Given the description of an element on the screen output the (x, y) to click on. 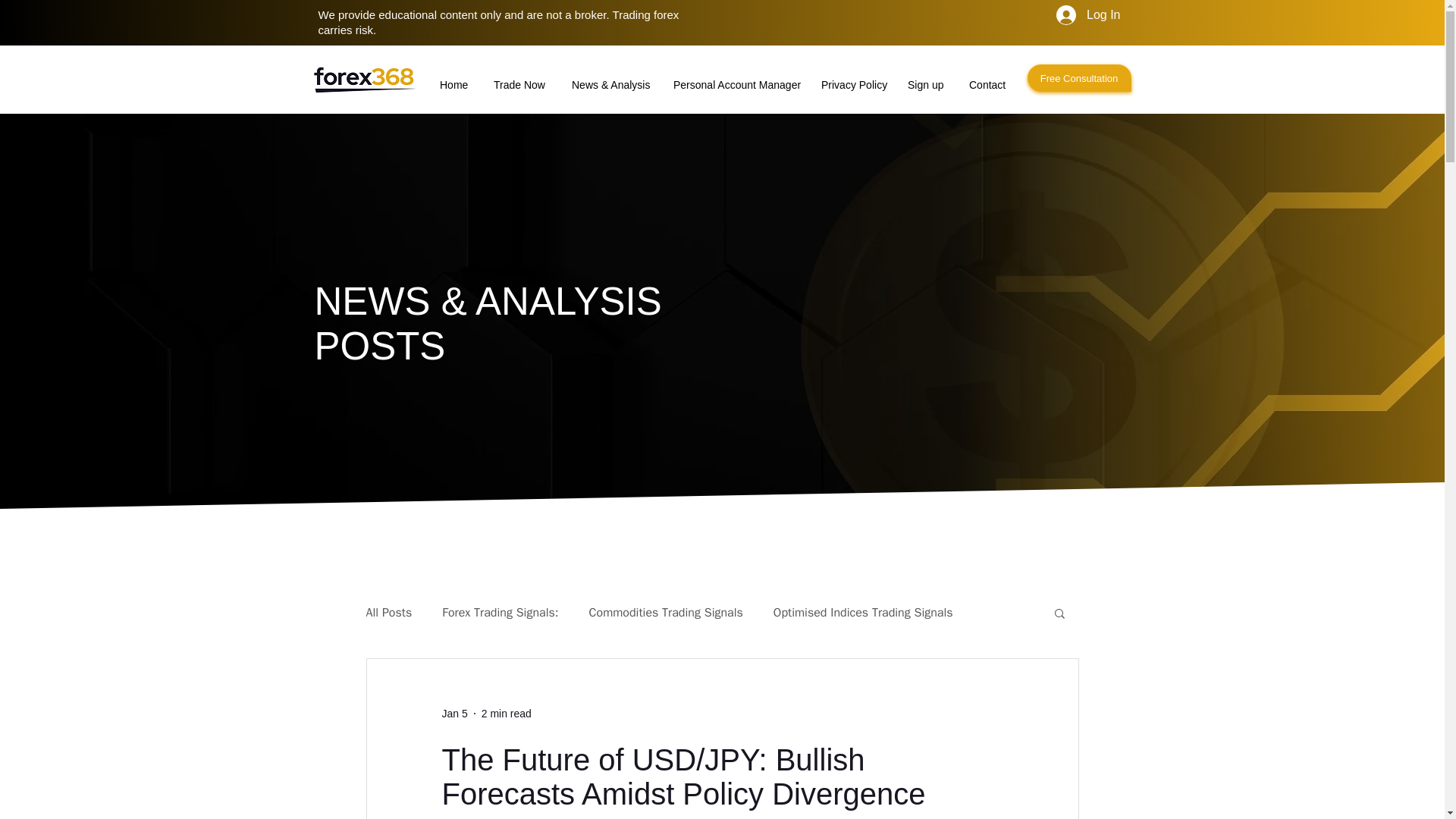
Optimised Indices Trading Signals (863, 612)
Commodities Trading Signals (665, 612)
Log In (1088, 14)
Home (453, 77)
Trade Now (518, 77)
Jan 5 (454, 713)
Privacy Policy (850, 77)
2 min read (506, 713)
Contact (986, 77)
Forex Trading Signals: (499, 612)
